Given the description of an element on the screen output the (x, y) to click on. 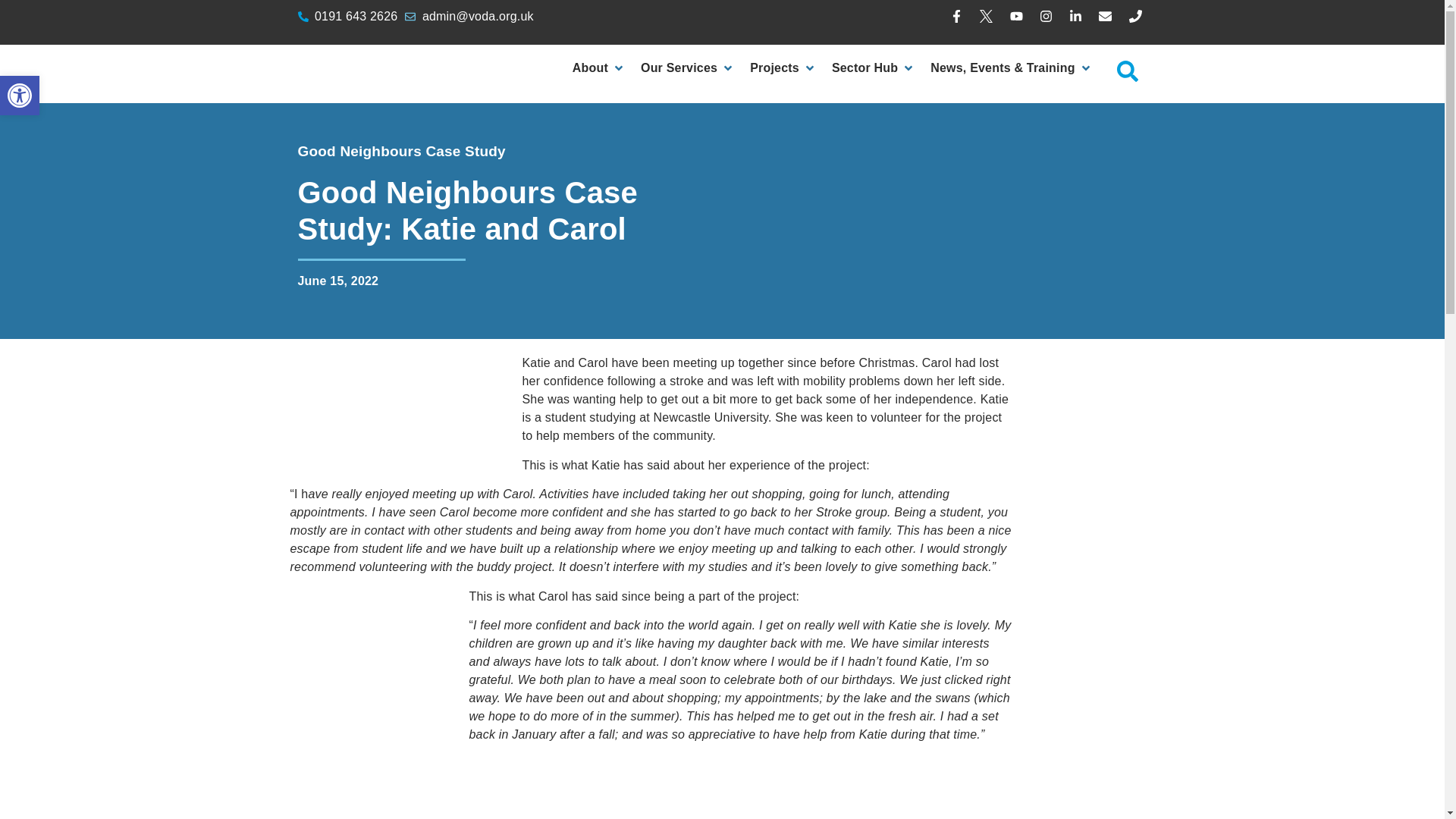
Accessibility Tools (19, 95)
About (590, 67)
Our Services (678, 67)
